Given the description of an element on the screen output the (x, y) to click on. 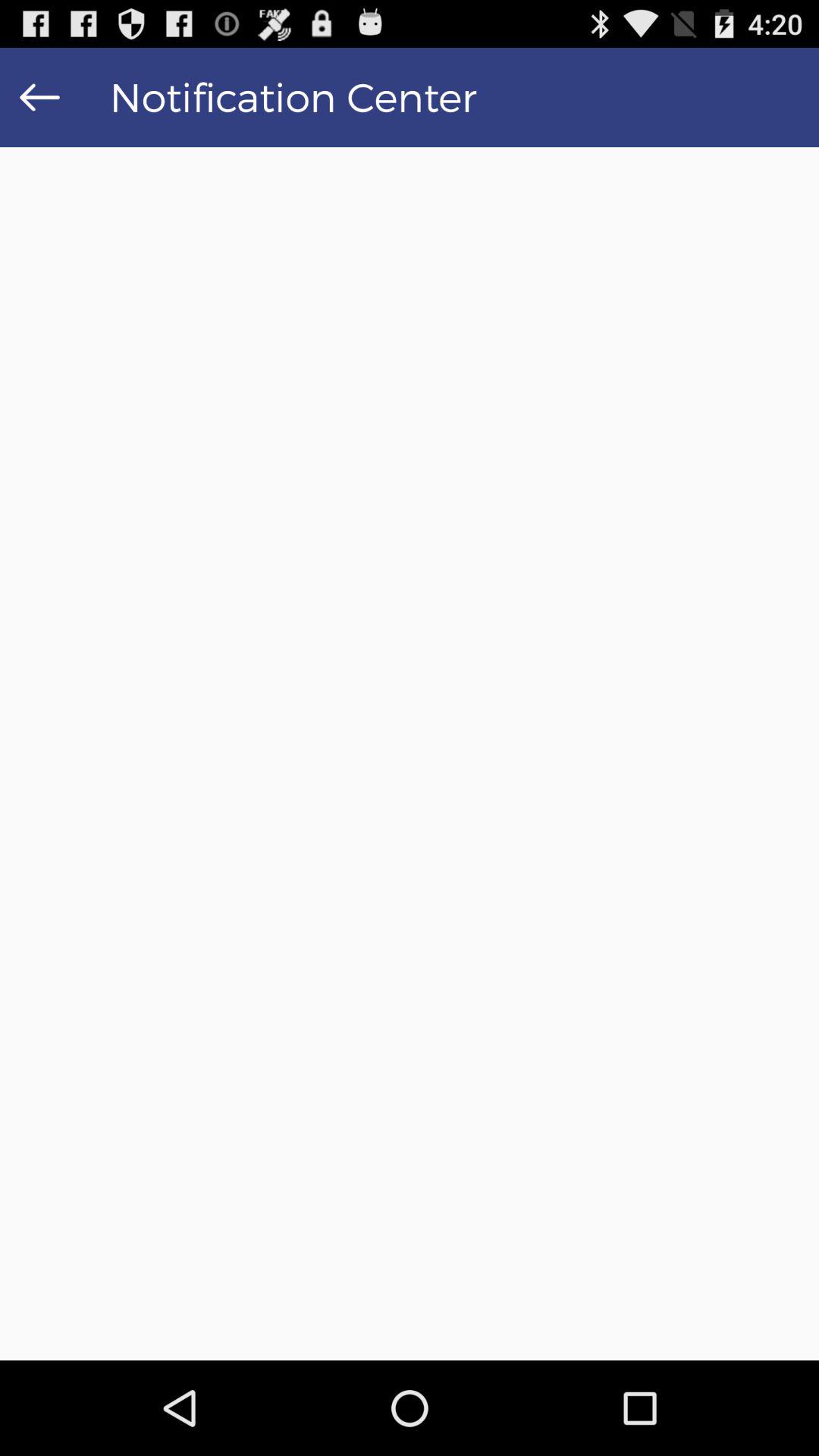
select the item next to the notification center (39, 97)
